Given the description of an element on the screen output the (x, y) to click on. 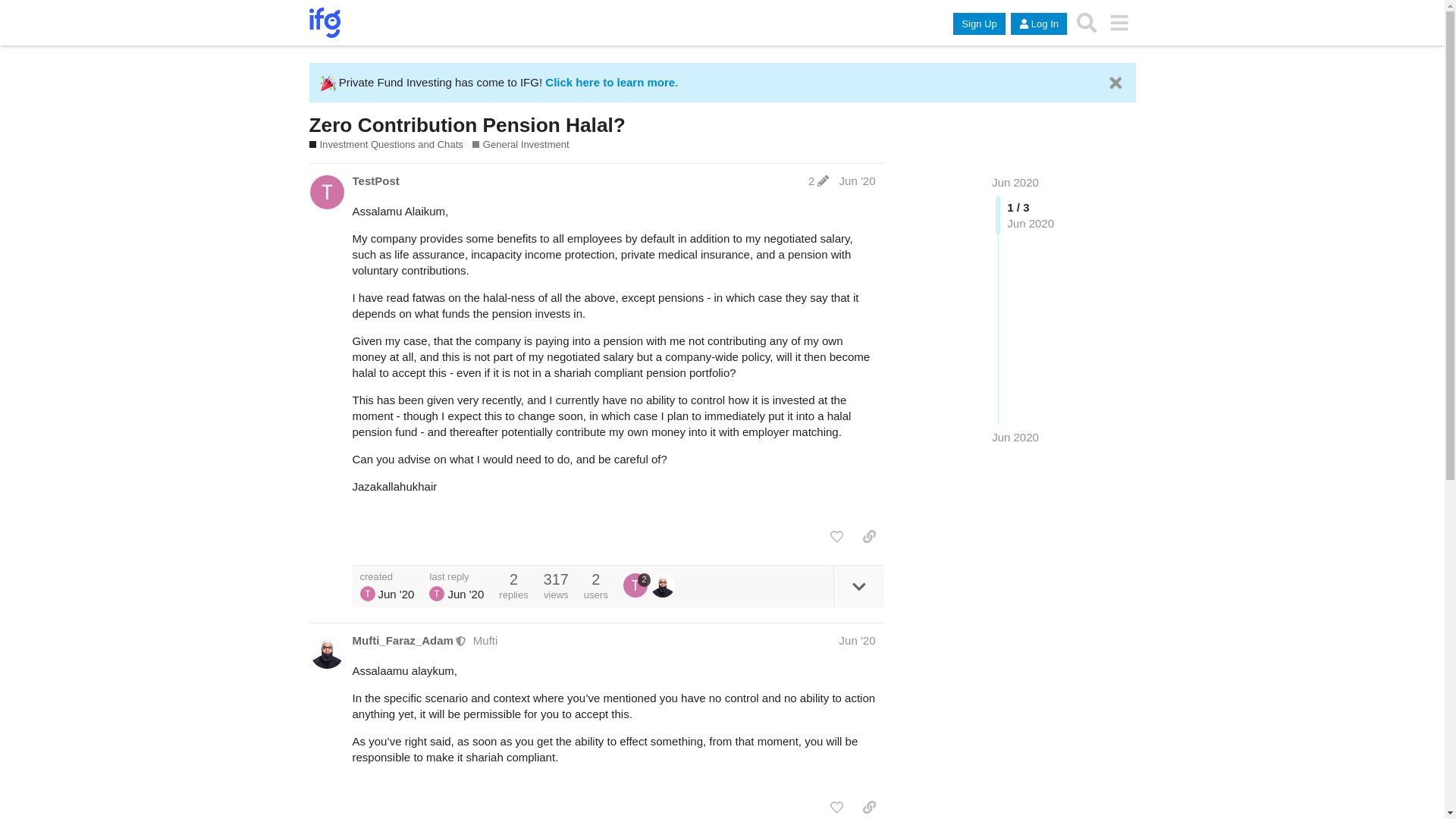
Jun 2020 (1015, 182)
Jun '20 (858, 180)
expand topic details (857, 586)
Dismiss this banner (1115, 82)
Jun 2020 (1015, 437)
post last edited on 9 Feb 2021 00:02 (817, 180)
Post date (858, 180)
share a link to this post (869, 536)
Log In (1038, 24)
